Given the description of an element on the screen output the (x, y) to click on. 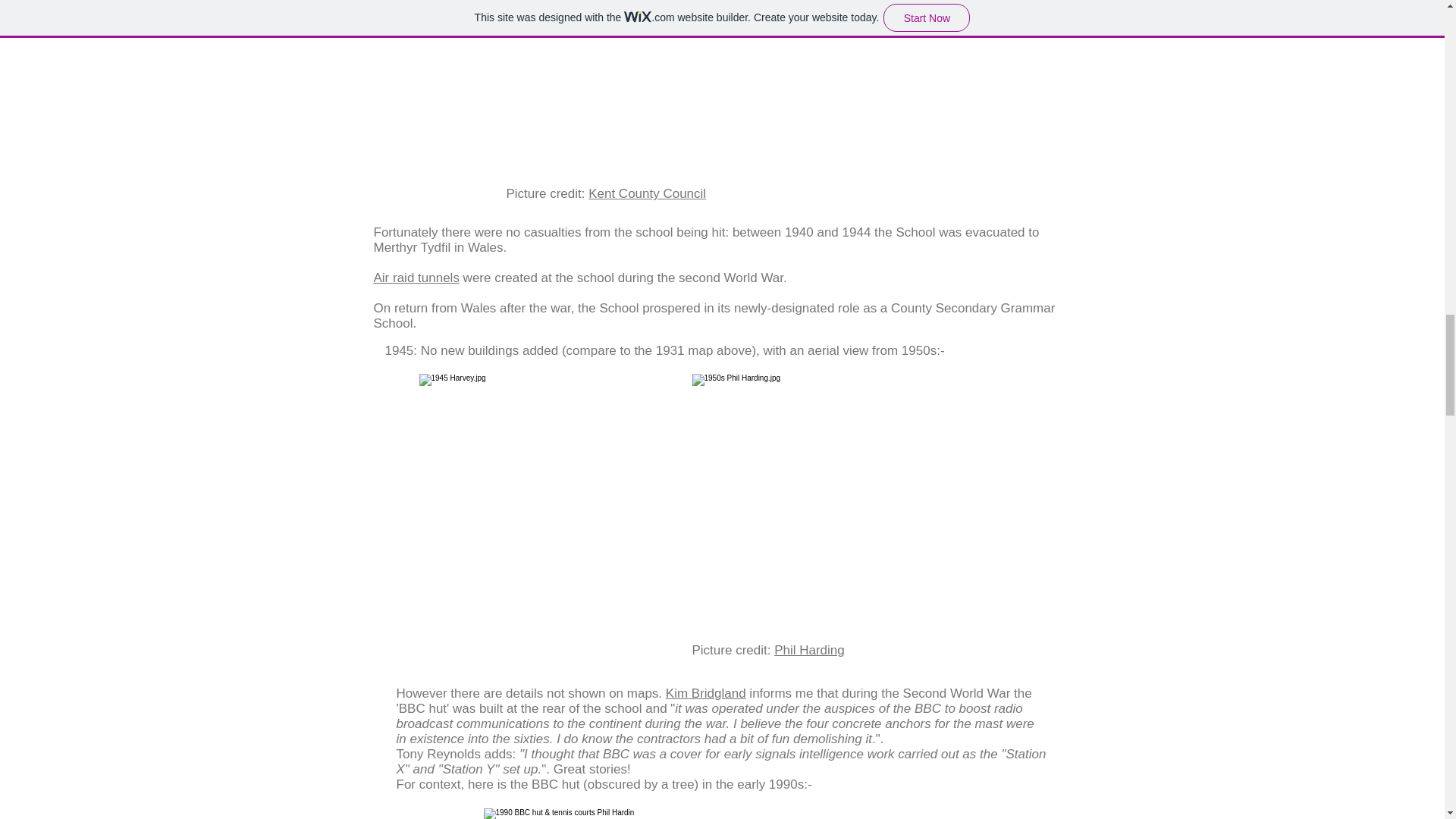
Air raid tunnels (415, 278)
Kent County Council (647, 193)
Kim Bridgland (705, 693)
Phil Harding (809, 649)
